Given the description of an element on the screen output the (x, y) to click on. 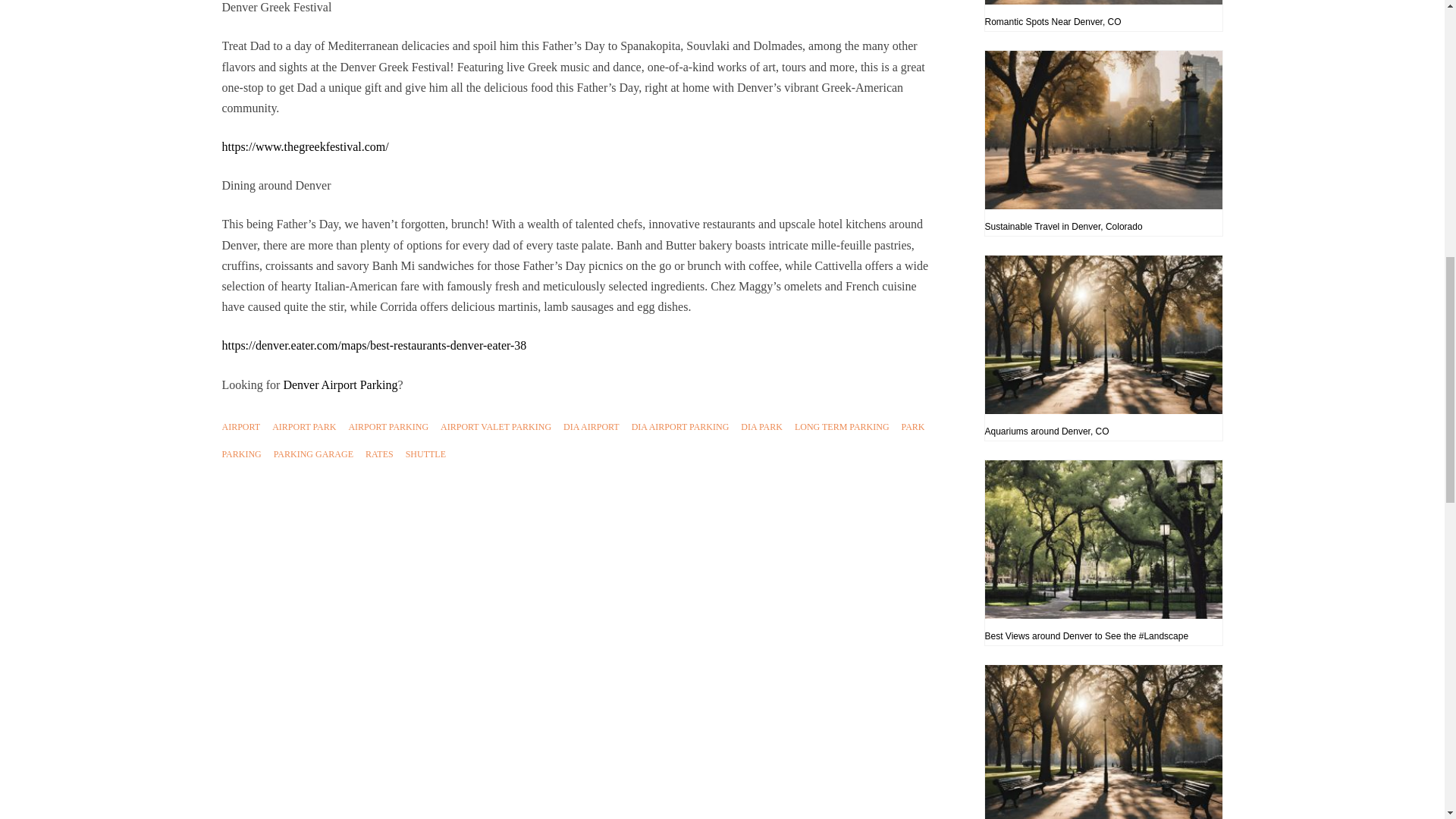
AIRPORT VALET PARKING (496, 426)
PARKING GARAGE (313, 453)
Sustainable Travel in Denver, Colorado (1103, 142)
Best Car Washes in Denver, Colorado (1103, 741)
SHUTTLE (425, 453)
DIA AIRPORT (591, 426)
RATES (379, 453)
DIA AIRPORT PARKING (680, 426)
AIRPORT PARKING (387, 426)
LONG TERM PARKING (841, 426)
AIRPORT PARK (304, 426)
DIA PARK (762, 426)
AIRPORT (240, 426)
Aquariums around Denver, CO (1103, 347)
PARKING (240, 453)
